Given the description of an element on the screen output the (x, y) to click on. 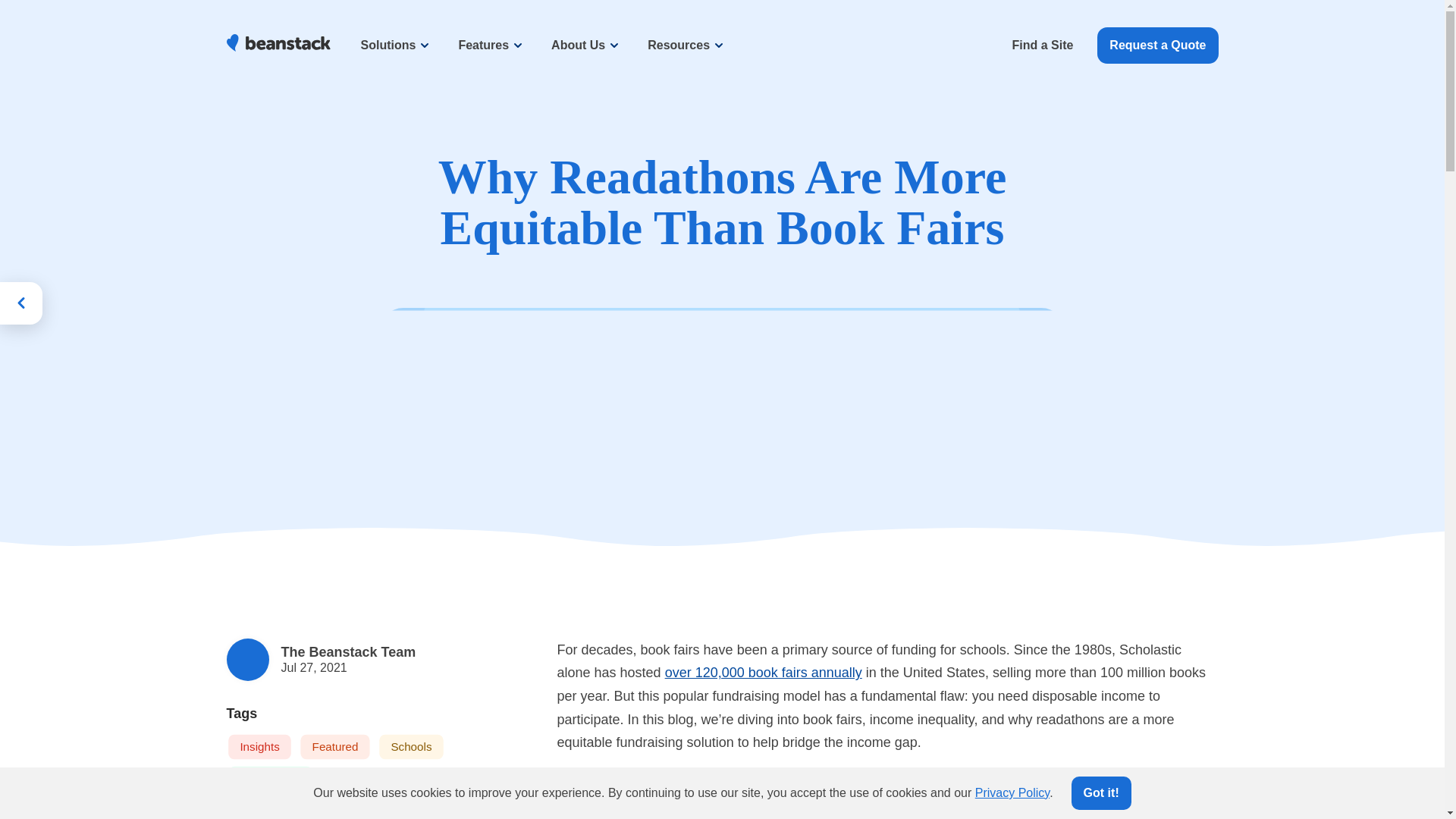
Find a Site (1041, 45)
Insights (261, 747)
Request a Quote (1157, 45)
Features (490, 45)
About Us (584, 45)
Solutions (396, 45)
Got it! (1101, 792)
Resources (685, 45)
Featured (335, 747)
Privacy Policy (1012, 792)
